Given the description of an element on the screen output the (x, y) to click on. 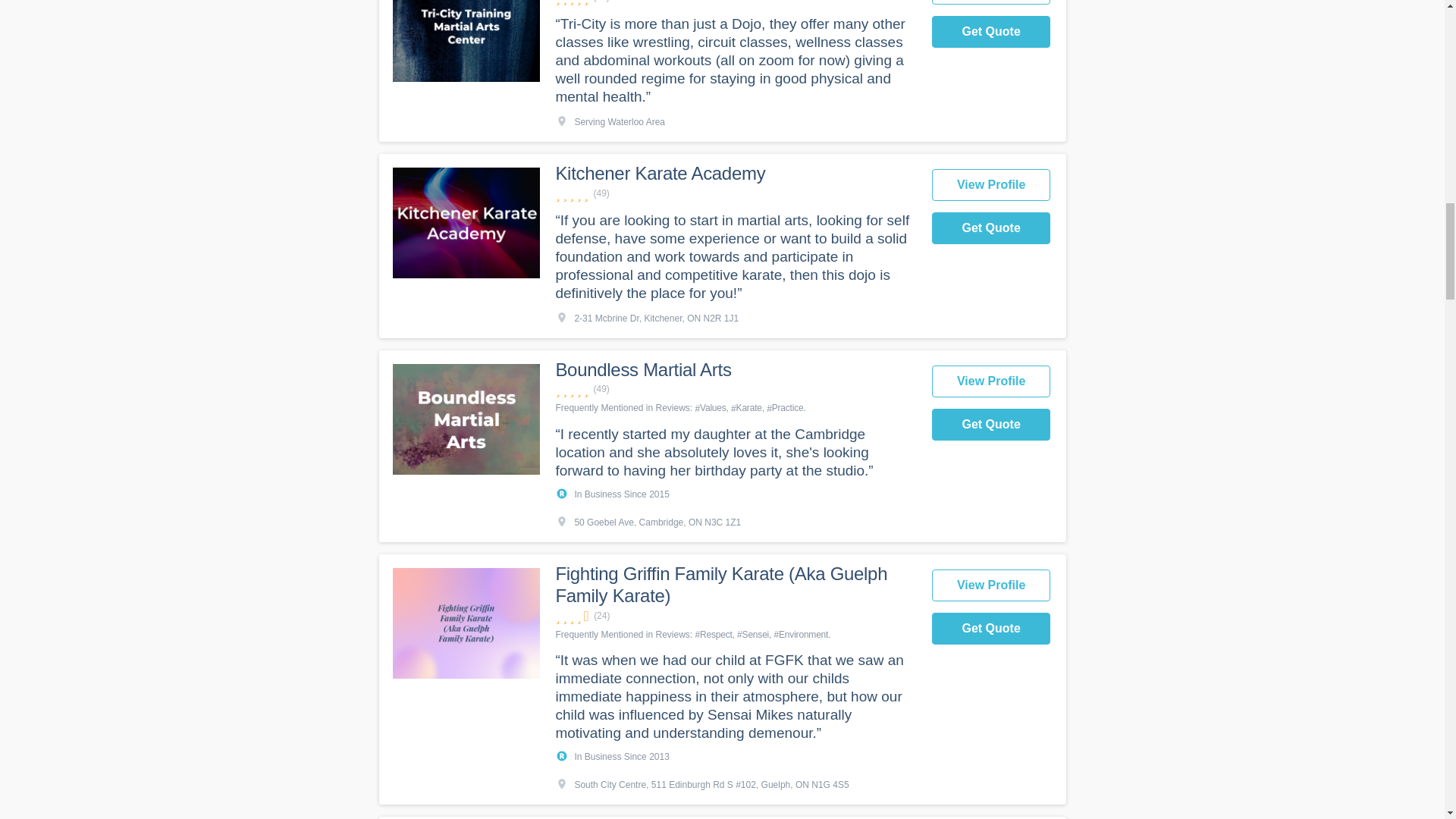
5.0 (734, 2)
Get Quote (991, 31)
4.9 (734, 389)
4.9 (734, 193)
4.6 (734, 616)
Get Quote (991, 228)
